Given the description of an element on the screen output the (x, y) to click on. 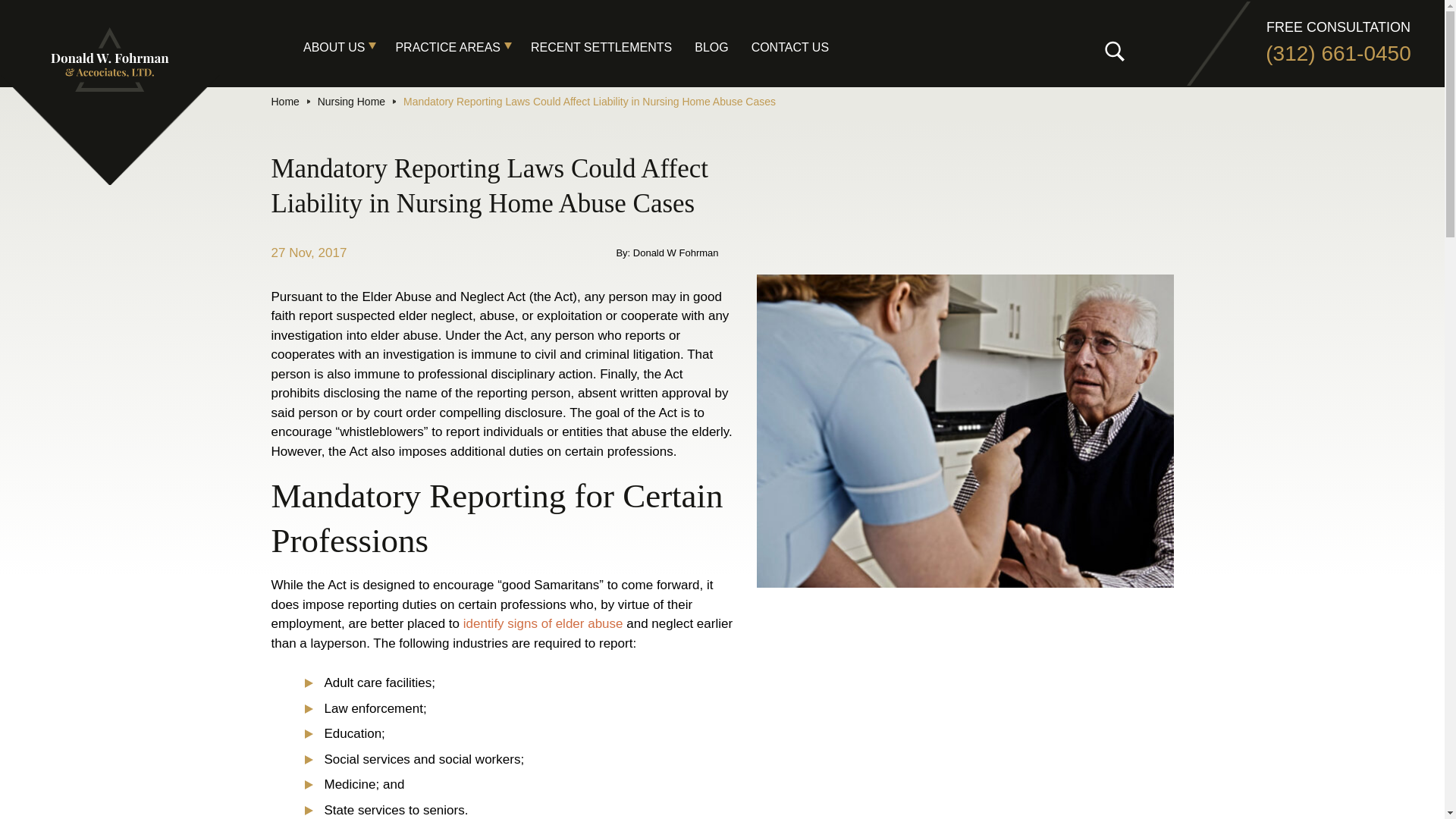
Nursing Home (351, 101)
BLOG (722, 46)
ABOUT US (348, 46)
RECENT SETTLEMENTS (612, 46)
PRACTICE AREAS (462, 46)
Search (63, 18)
Home (284, 101)
CONTACT US (801, 46)
identify signs of elder abuse (543, 623)
